Given the description of an element on the screen output the (x, y) to click on. 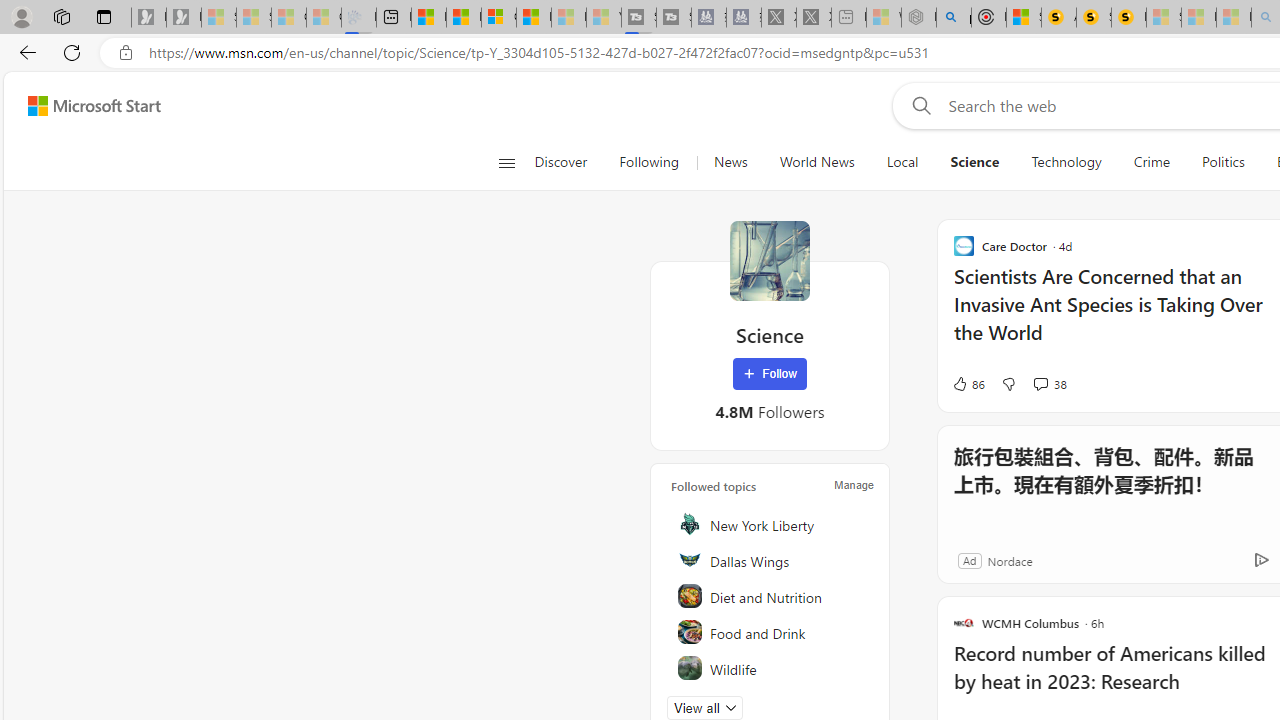
Skip to footer (82, 105)
Class: button-glyph (505, 162)
Michelle Starr, Senior Journalist at ScienceAlert (1128, 17)
poe - Search (954, 17)
Overview (498, 17)
